Given the description of an element on the screen output the (x, y) to click on. 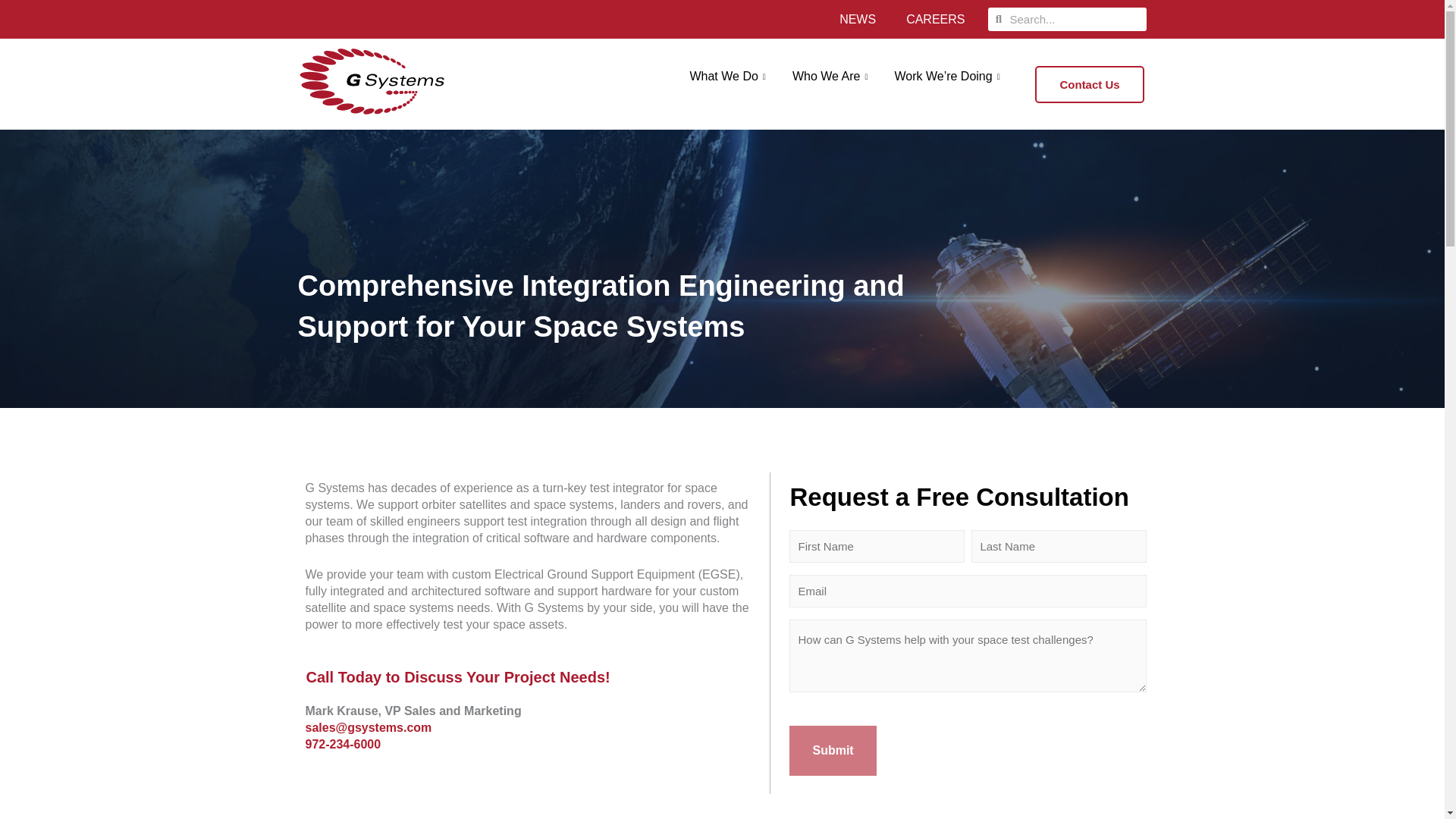
Who We Are (831, 76)
NEWS (857, 18)
What We Do (729, 76)
Submit (832, 750)
CAREERS (935, 18)
